Given the description of an element on the screen output the (x, y) to click on. 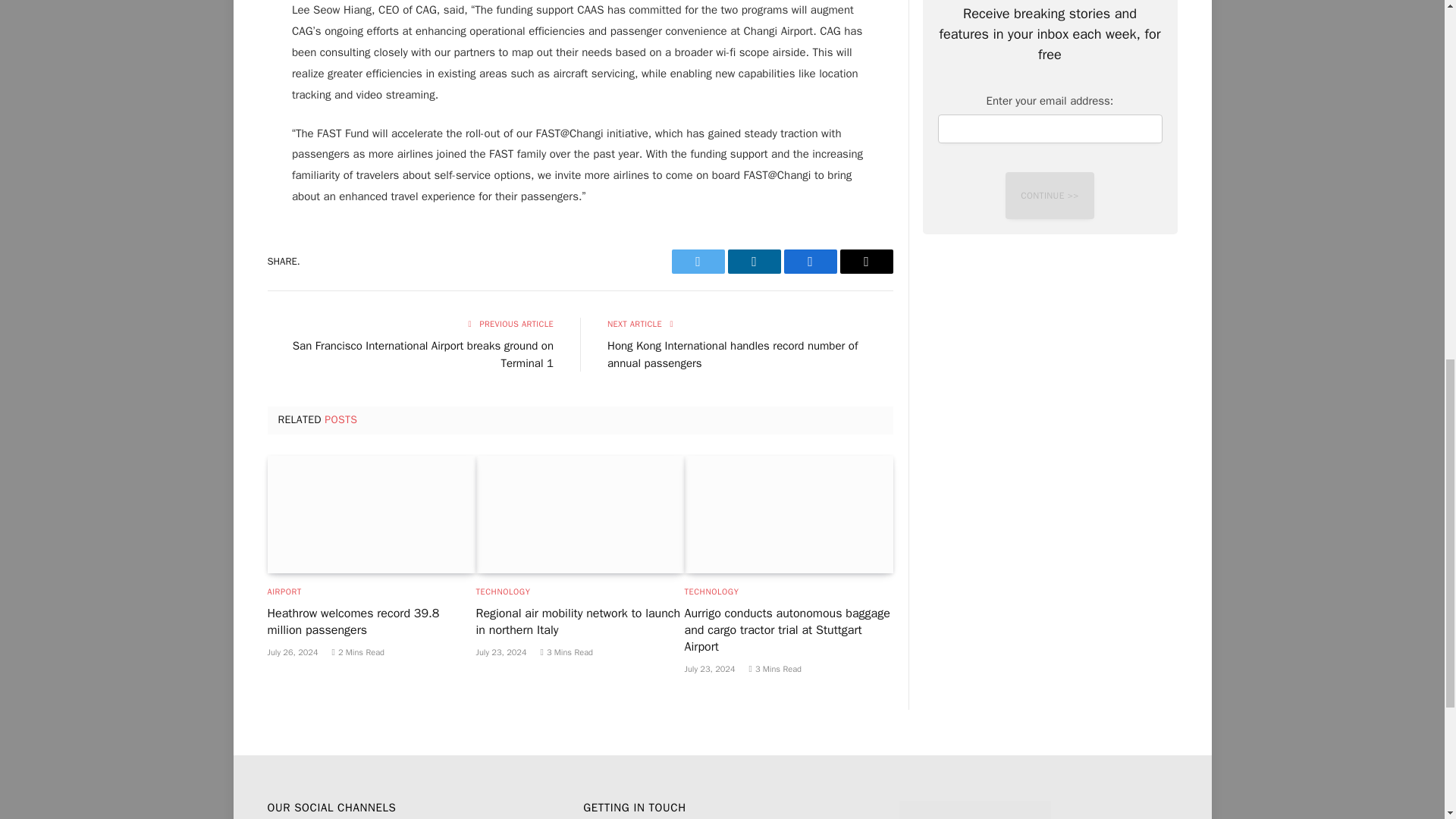
Heathrow welcomes record 39.8 million passengers (371, 514)
Share on LinkedIn (754, 261)
Regional air mobility network to launch in northern Italy (580, 514)
Share via Email (866, 261)
Share on Facebook (810, 261)
